Given the description of an element on the screen output the (x, y) to click on. 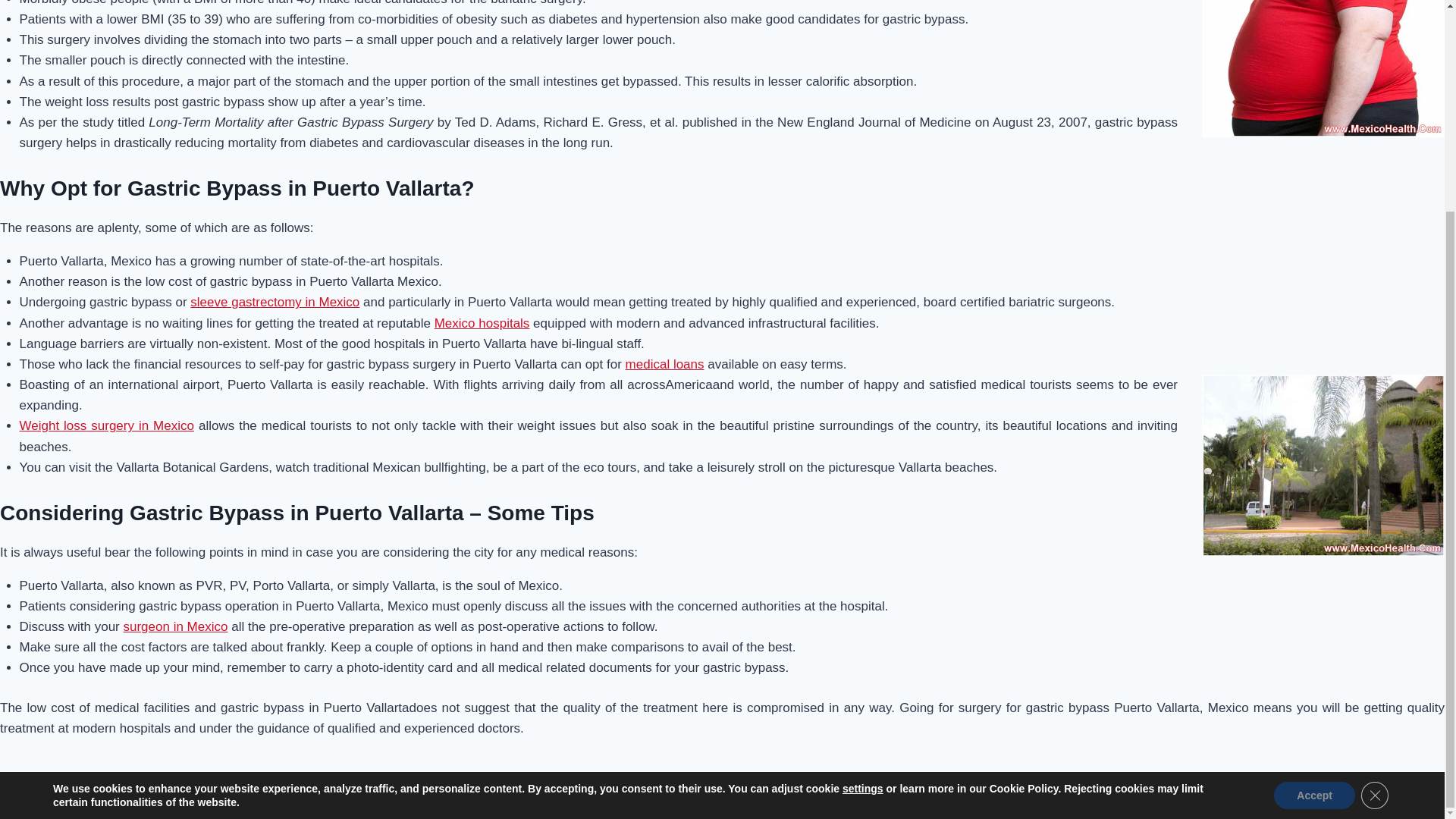
Mexico hospitals (481, 323)
Weight loss surgery in Mexico (106, 425)
Accept (1314, 519)
Close GDPR Cookie Banner (1375, 519)
surgeon in Mexico (174, 626)
medical loans (665, 364)
Weight loss surgery in Mexico (106, 425)
sleeve gastrectomy in Mexico (274, 301)
Surgeon in Mexico (174, 626)
Gastric sleeve surgery in Mexico (274, 301)
Mexico hospitals (481, 323)
Medical loans (665, 364)
